Given the description of an element on the screen output the (x, y) to click on. 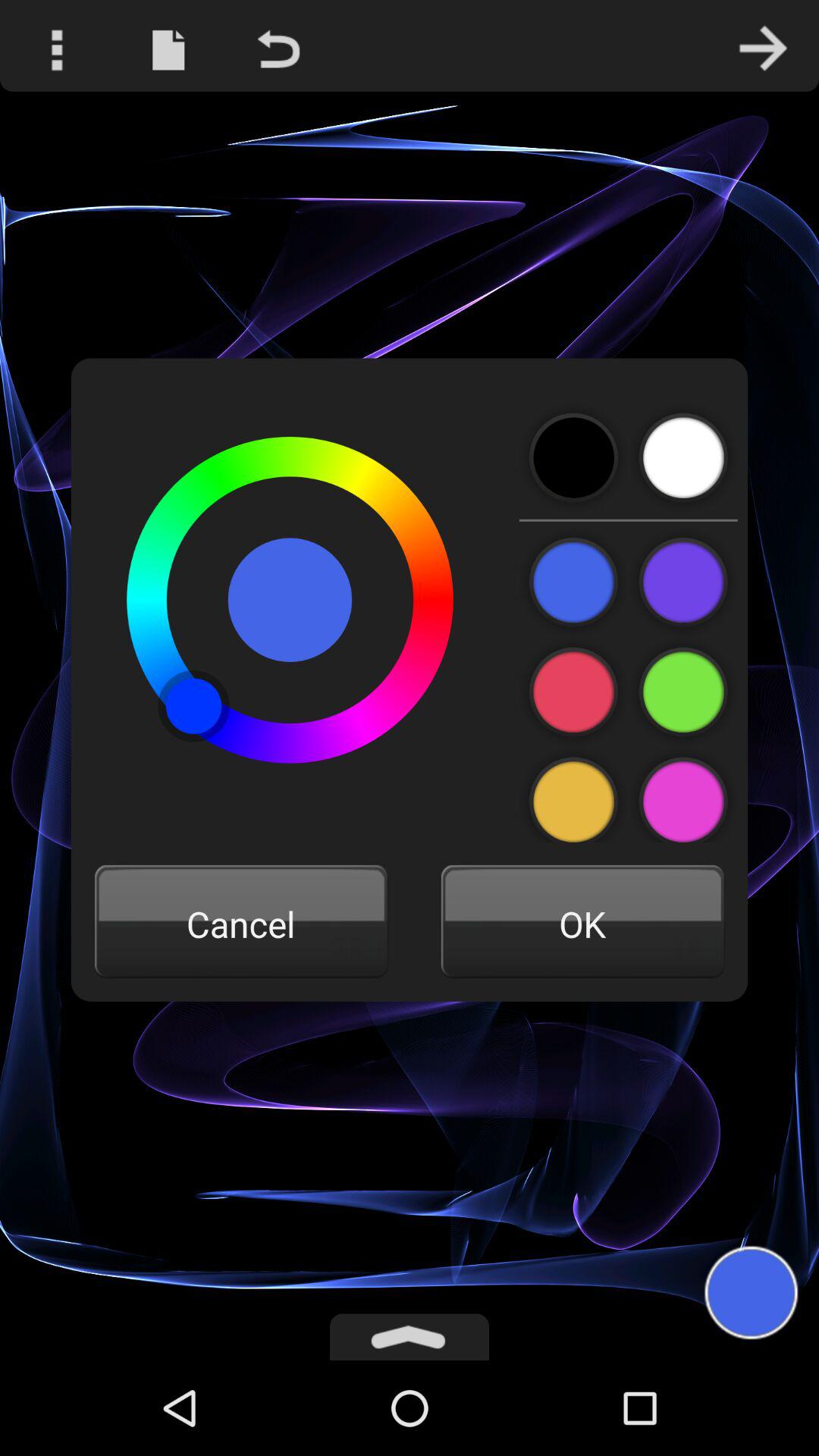
option (683, 458)
